Given the description of an element on the screen output the (x, y) to click on. 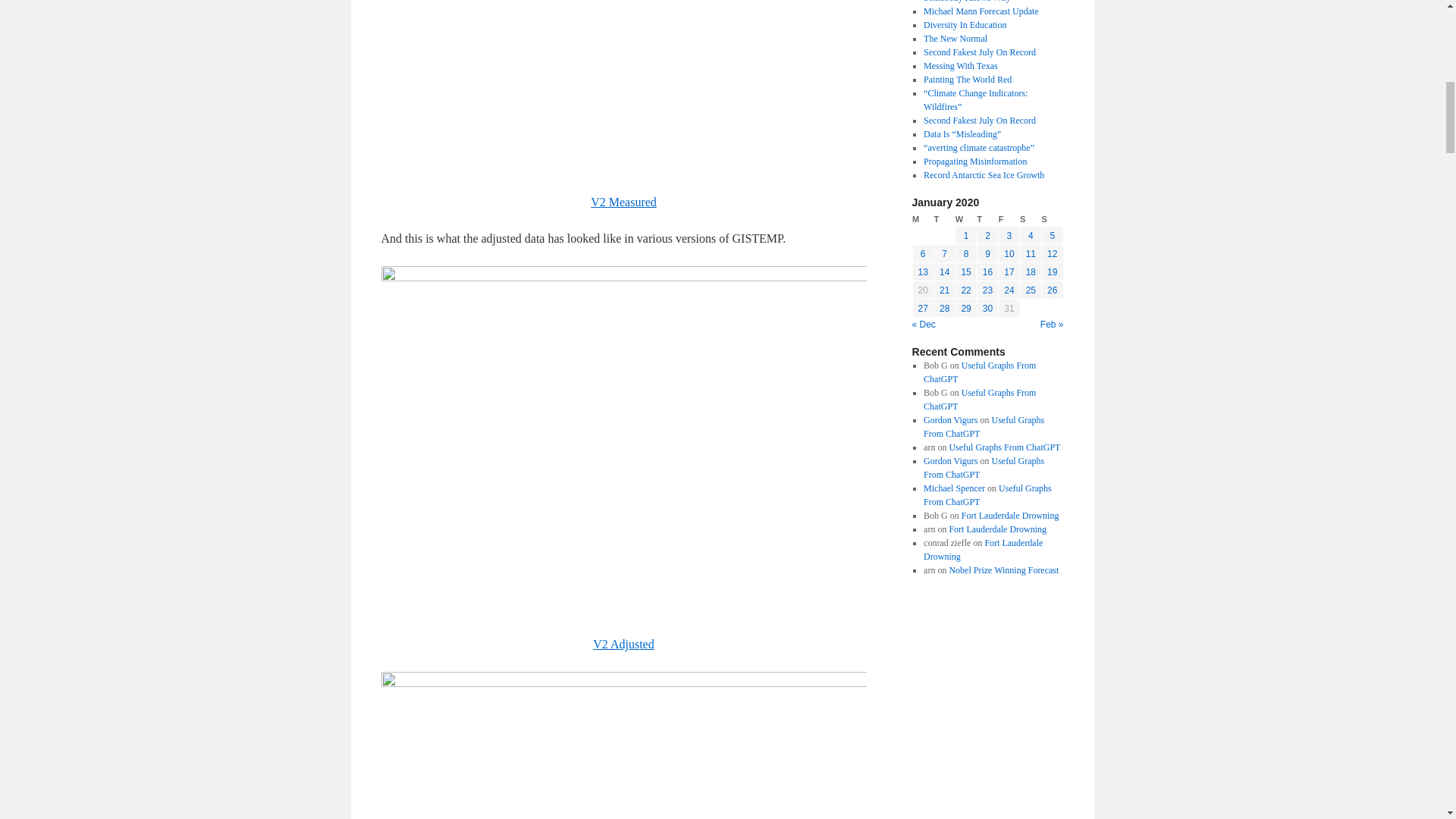
Monday (922, 219)
Sunday (1052, 219)
Wednesday (965, 219)
Friday (1009, 219)
Saturday (1030, 219)
Tuesday (944, 219)
Thursday (986, 219)
